Given the description of an element on the screen output the (x, y) to click on. 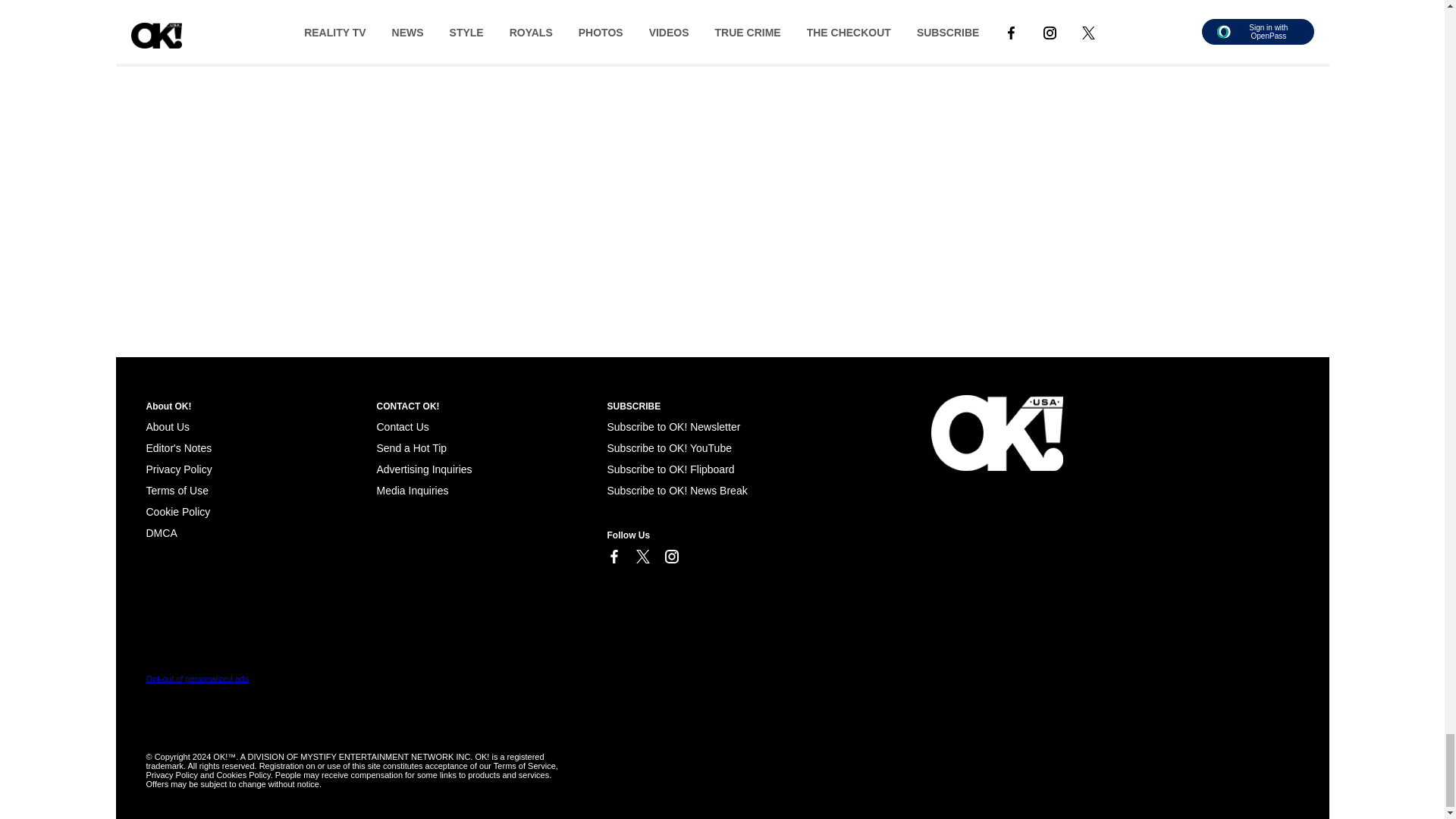
Contact Us (401, 426)
Terms of Use (176, 490)
Link to Facebook (613, 556)
Link to Instagram (670, 556)
Send a Hot Tip (410, 448)
Privacy Policy (178, 469)
About Us (167, 426)
Editor's Notes (178, 448)
Cookie Policy (177, 511)
Link to X (641, 556)
Cookie Policy (160, 532)
